Given the description of an element on the screen output the (x, y) to click on. 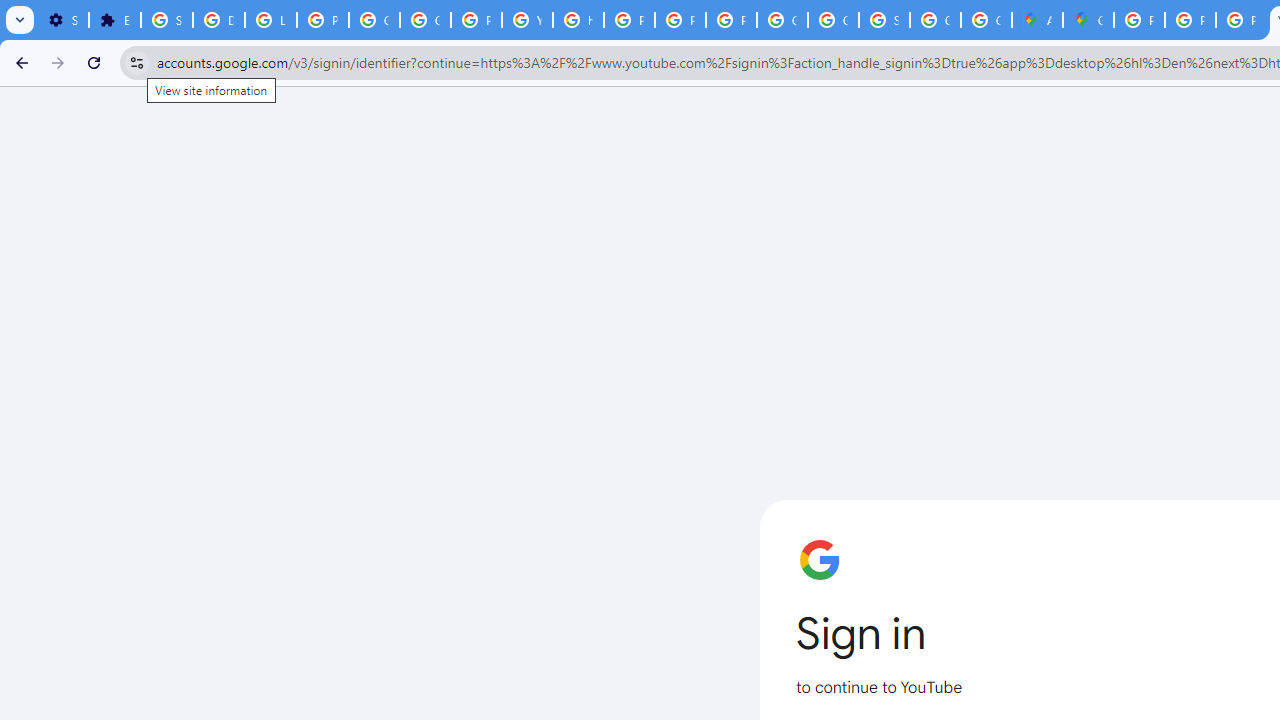
Settings - On startup (63, 20)
